Given the description of an element on the screen output the (x, y) to click on. 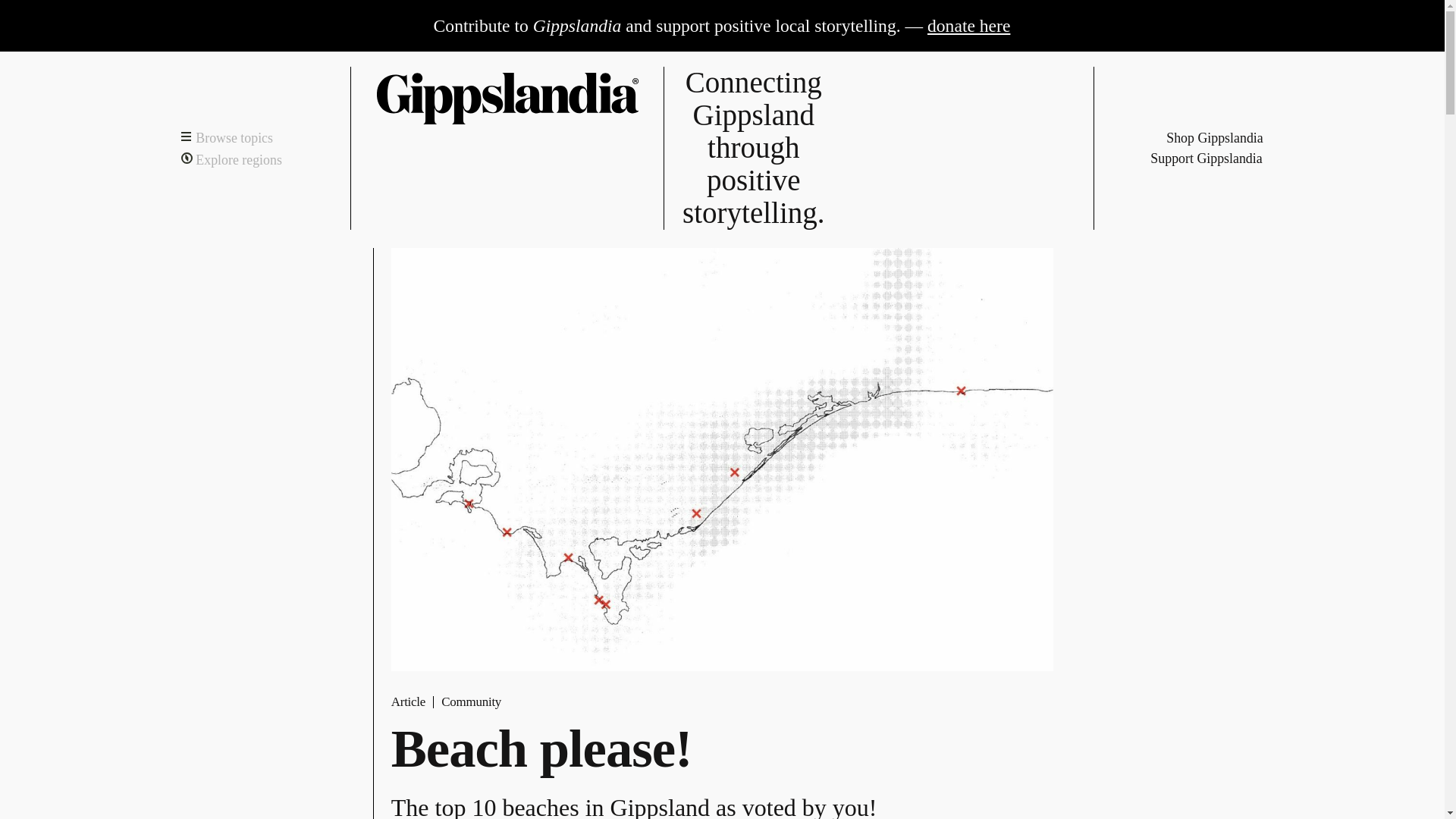
Browse topics (225, 138)
donate here (968, 25)
Shop Gippslandia (1206, 137)
Community (470, 701)
Support Gippslandia (1206, 158)
Article (408, 701)
Explore regions (231, 158)
